Given the description of an element on the screen output the (x, y) to click on. 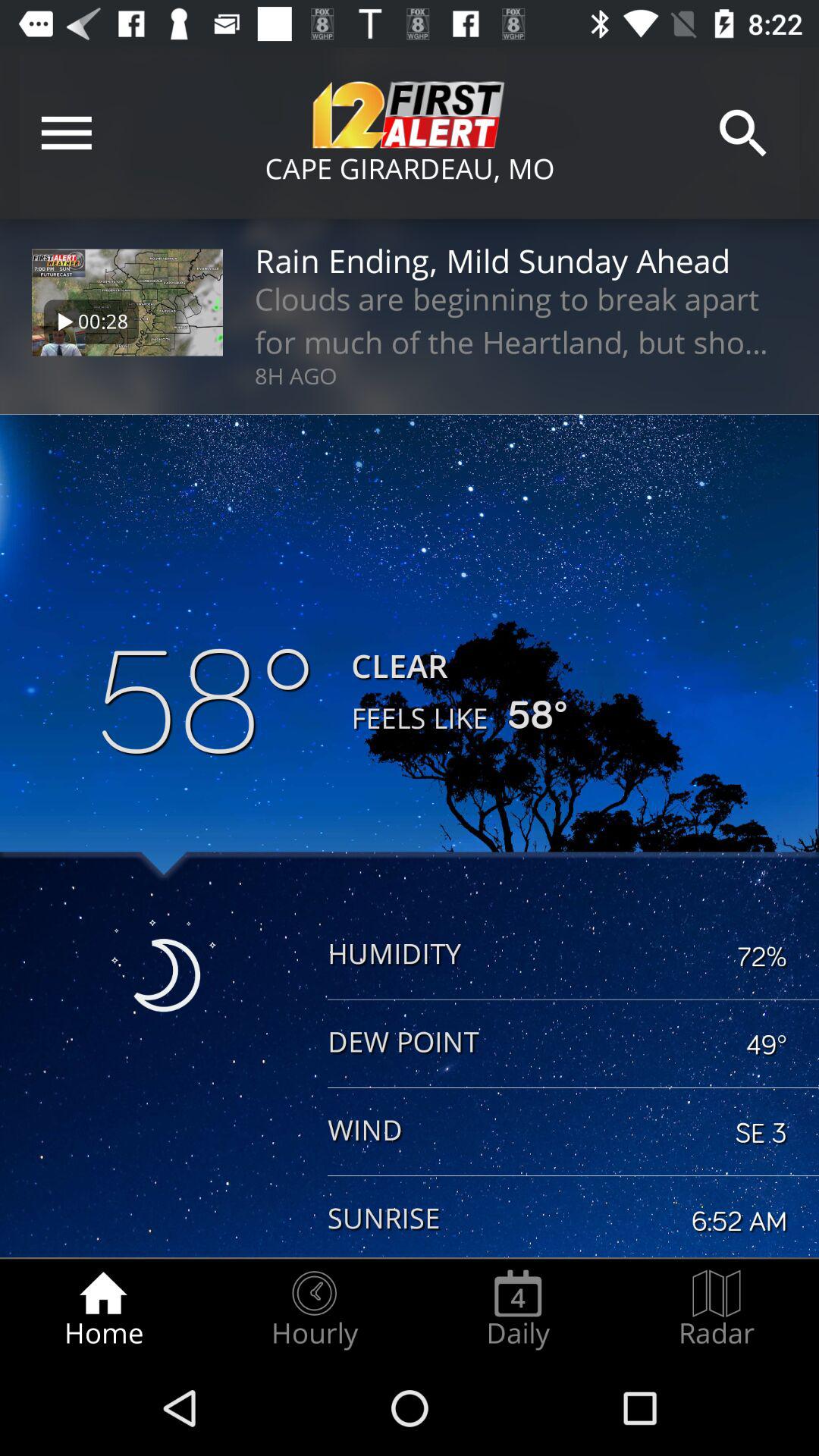
open icon next to daily radio button (716, 1309)
